Given the description of an element on the screen output the (x, y) to click on. 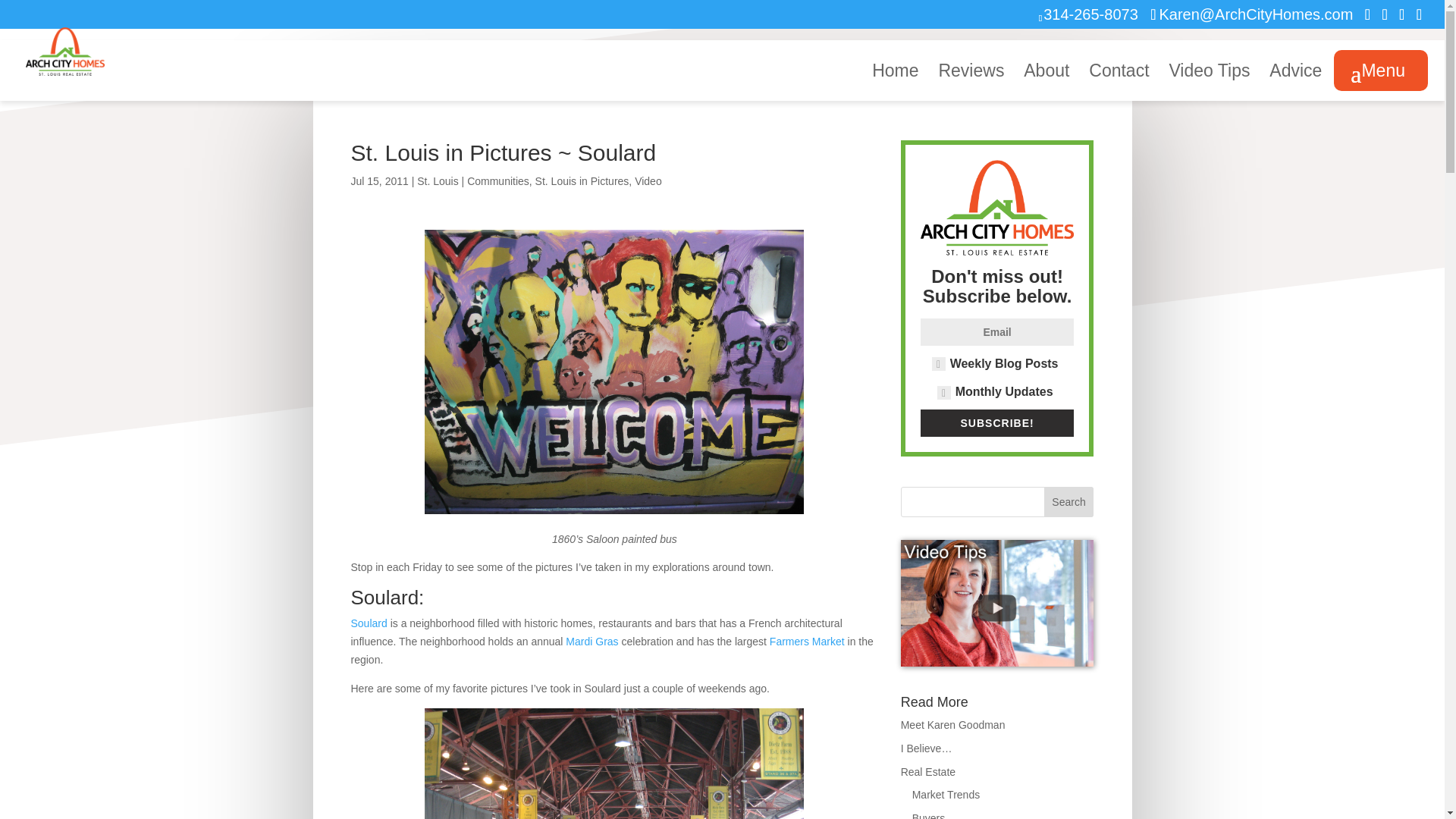
Search (1068, 501)
Soulard Mardi Gras Facebook page (591, 641)
Advice (1295, 82)
Contact (1118, 82)
Reviews (970, 82)
About (1045, 82)
Home (895, 82)
Soulard Farmers Market (807, 641)
Video Tips (1209, 82)
314-265-8073 (1090, 13)
